Given the description of an element on the screen output the (x, y) to click on. 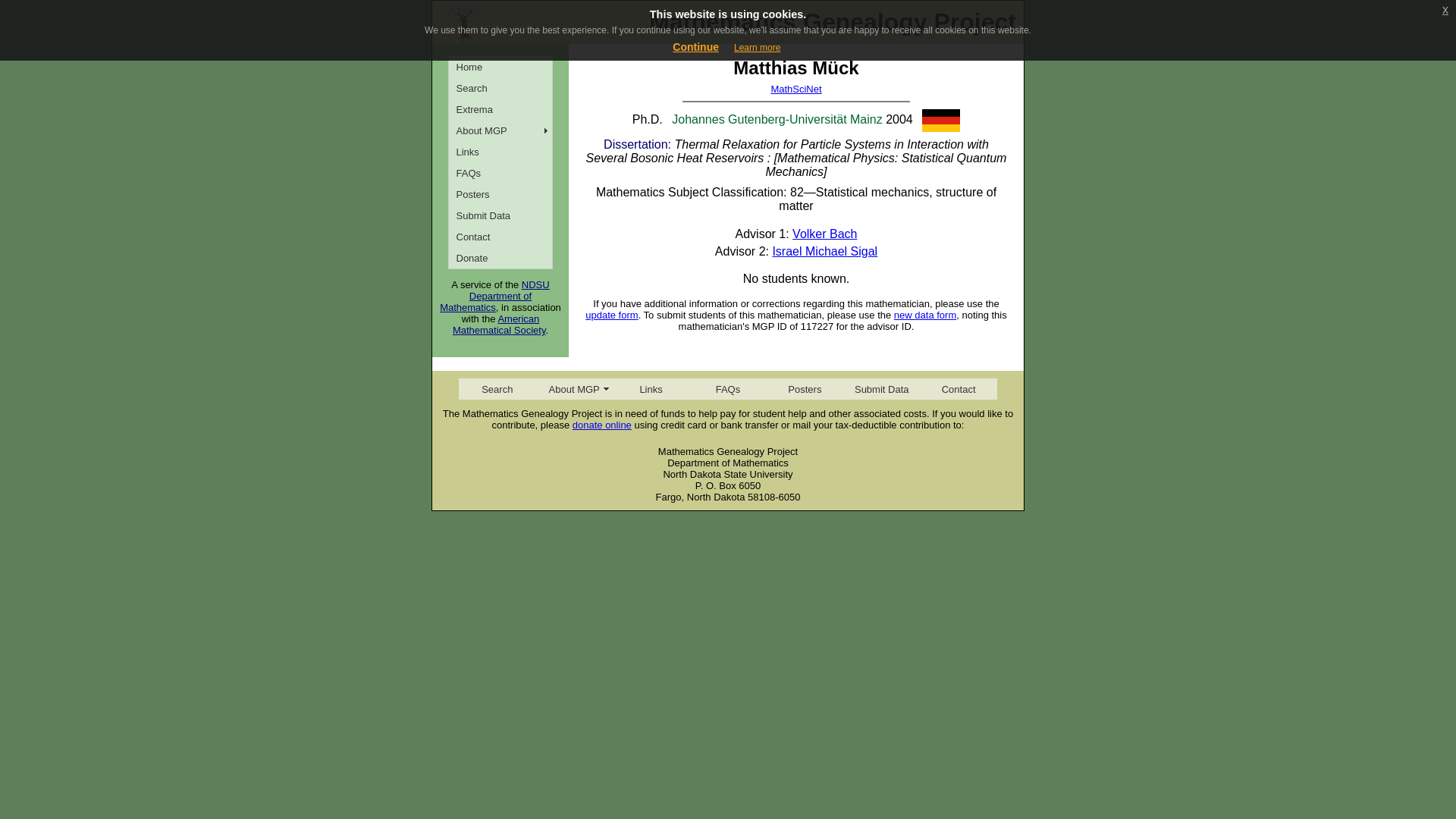
Extrema (500, 108)
new data form (924, 315)
Frequently Asked Questions (500, 172)
Germany (940, 119)
Volker Bach (824, 233)
MathSciNet (795, 89)
Submit Data (881, 388)
Search (496, 388)
donate online (601, 424)
Links (650, 388)
Posters (805, 388)
Contact (957, 388)
NDSU (535, 284)
update form (611, 315)
Israel Michael Sigal (824, 250)
